Given the description of an element on the screen output the (x, y) to click on. 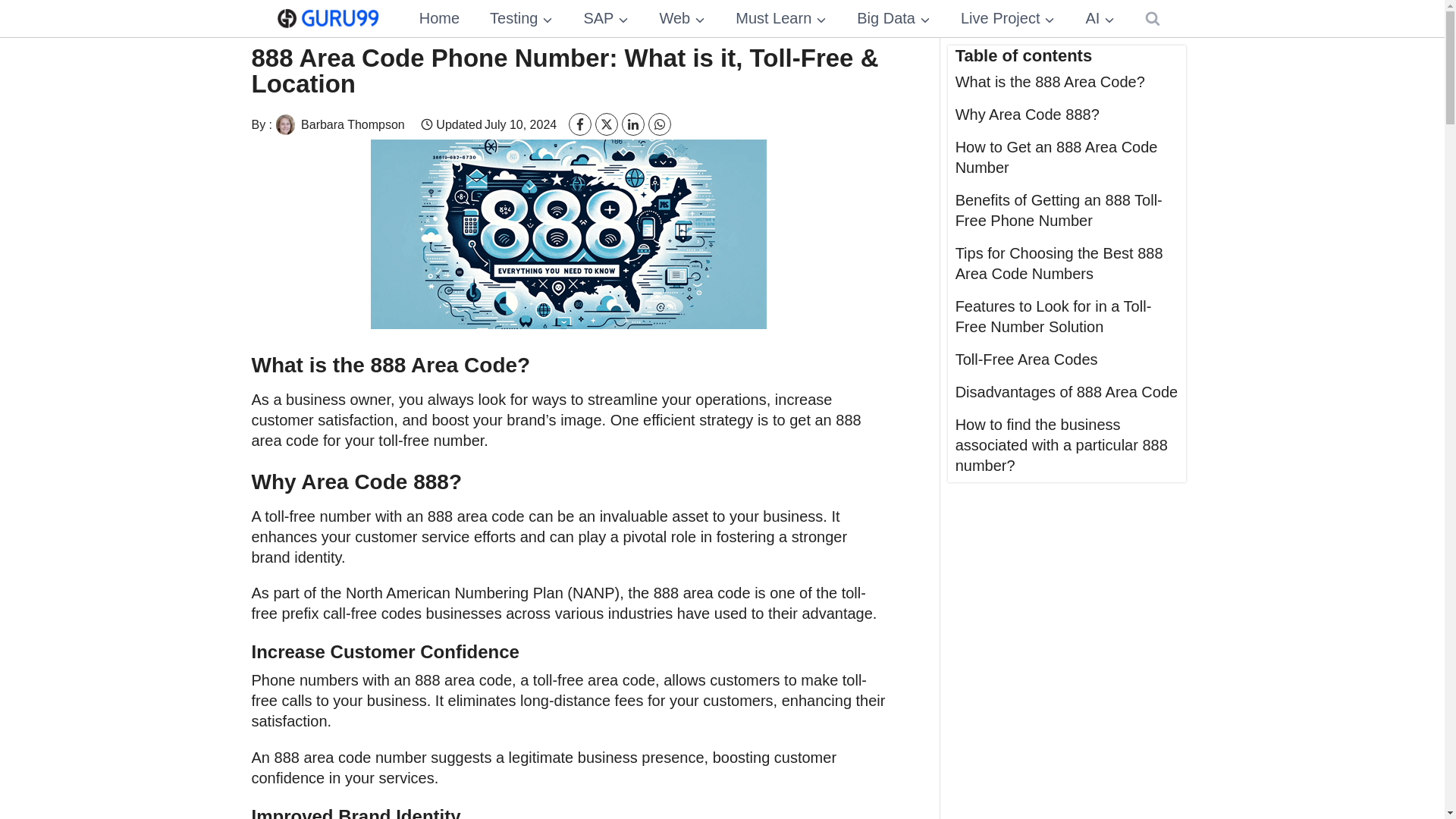
Posts by Barbara Thompson (338, 123)
Testing (520, 18)
SAP (605, 18)
Home (439, 18)
